Given the description of an element on the screen output the (x, y) to click on. 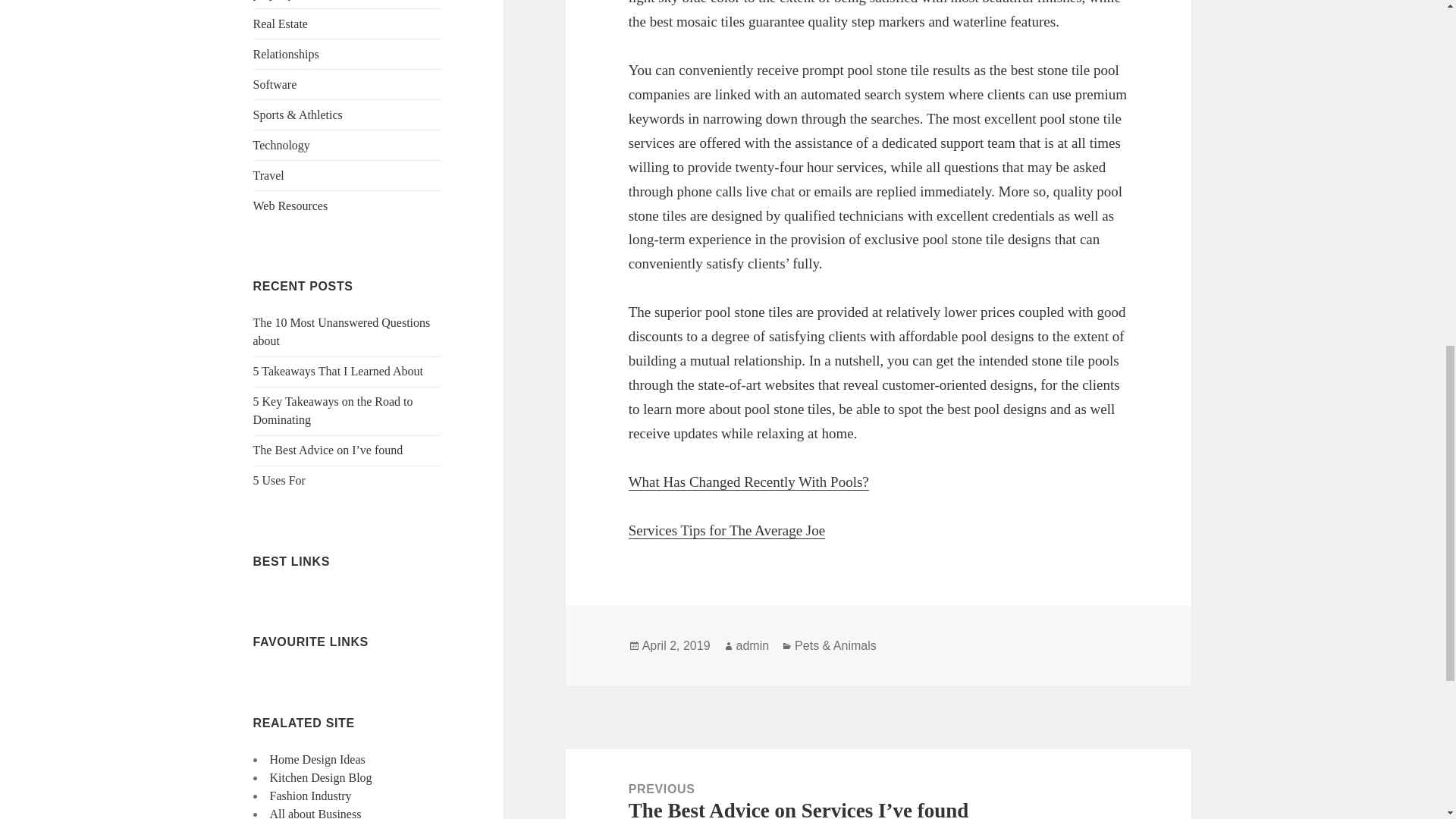
Fashion Industry (310, 795)
5 Uses For (279, 480)
Technology (281, 144)
Relationships (285, 53)
The 10 Most Unanswered Questions about (341, 331)
Software (275, 83)
Travel (268, 174)
All about Business (315, 813)
Kitchen Design Blog (320, 777)
5 Key Takeaways on the Road to Dominating (333, 409)
Home Design Ideas (317, 758)
What Has Changed Recently With Pools? (748, 482)
5 Takeaways That I Learned About (338, 370)
Web Resources (291, 205)
Real Estate (280, 23)
